Given the description of an element on the screen output the (x, y) to click on. 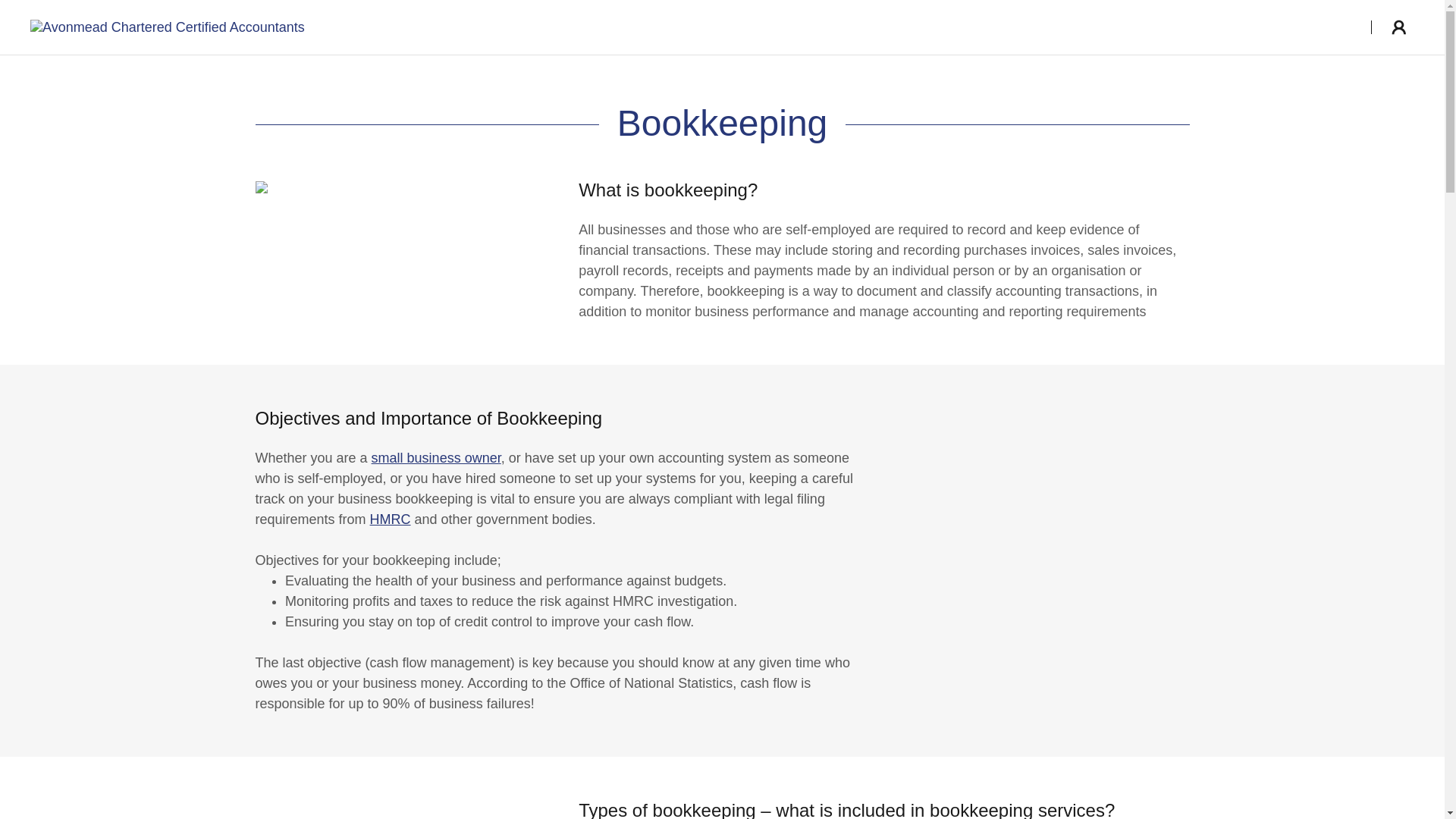
Avonmead Chartered Certified Accountants (167, 26)
